Given the description of an element on the screen output the (x, y) to click on. 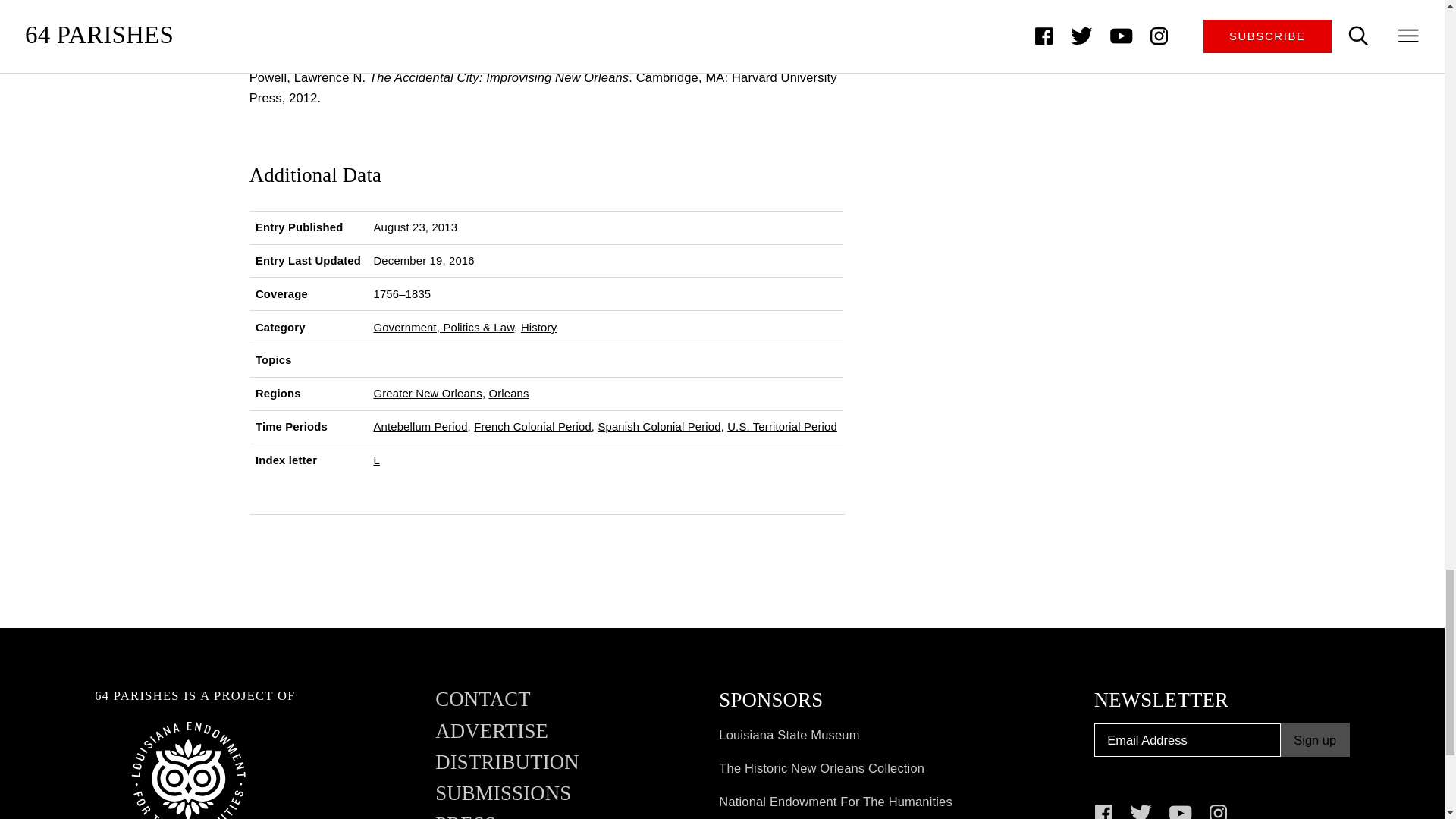
Sign up (1315, 740)
